Given the description of an element on the screen output the (x, y) to click on. 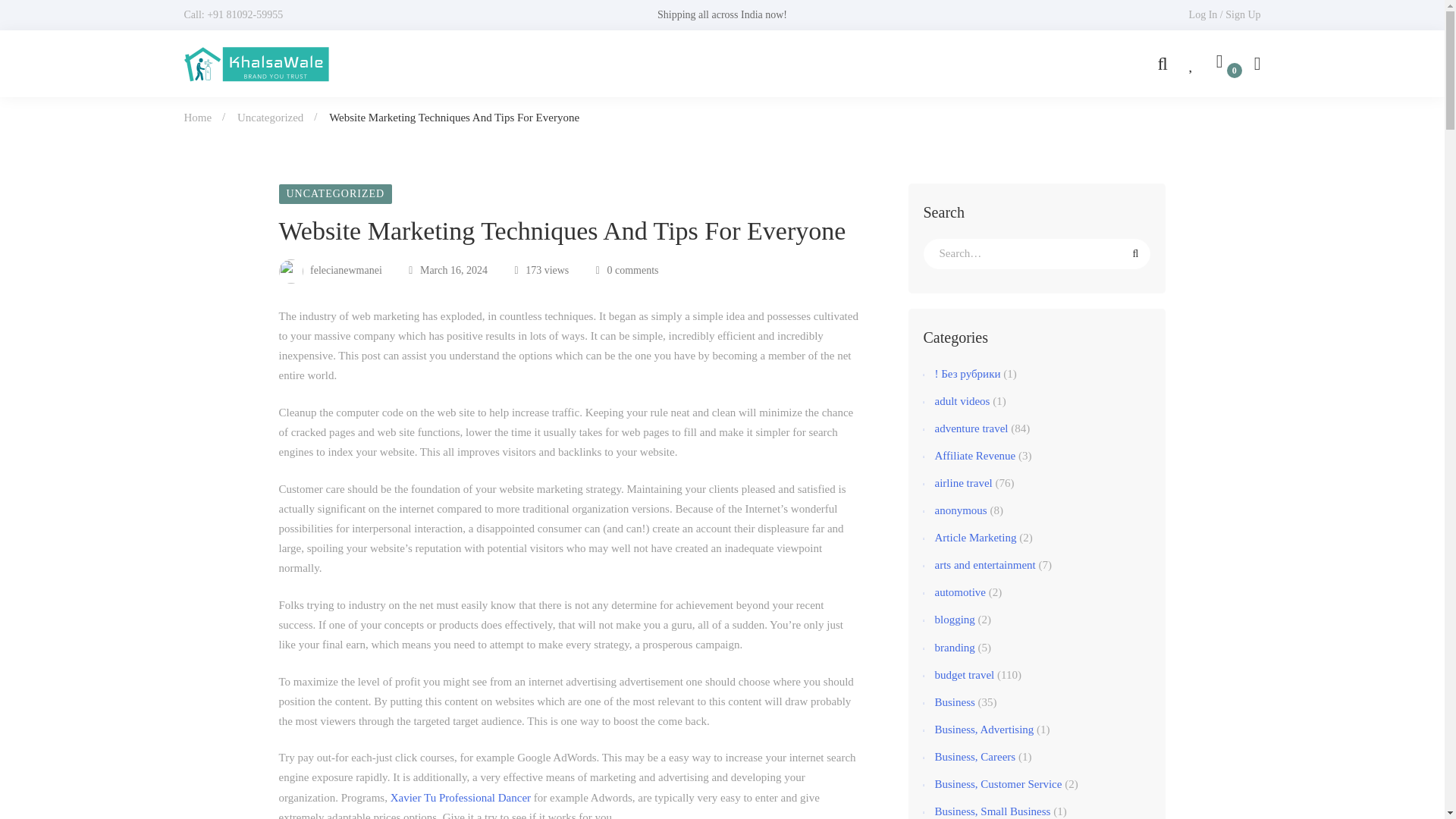
0 comments (627, 270)
Search for: (1037, 254)
felecianewmanei (330, 270)
Uncategorized (269, 116)
UNCATEGORIZED (336, 193)
0 comments (627, 270)
Home (197, 116)
View your shopping cart (1224, 63)
Xavier Tu Professional Dancer (460, 797)
